Given the description of an element on the screen output the (x, y) to click on. 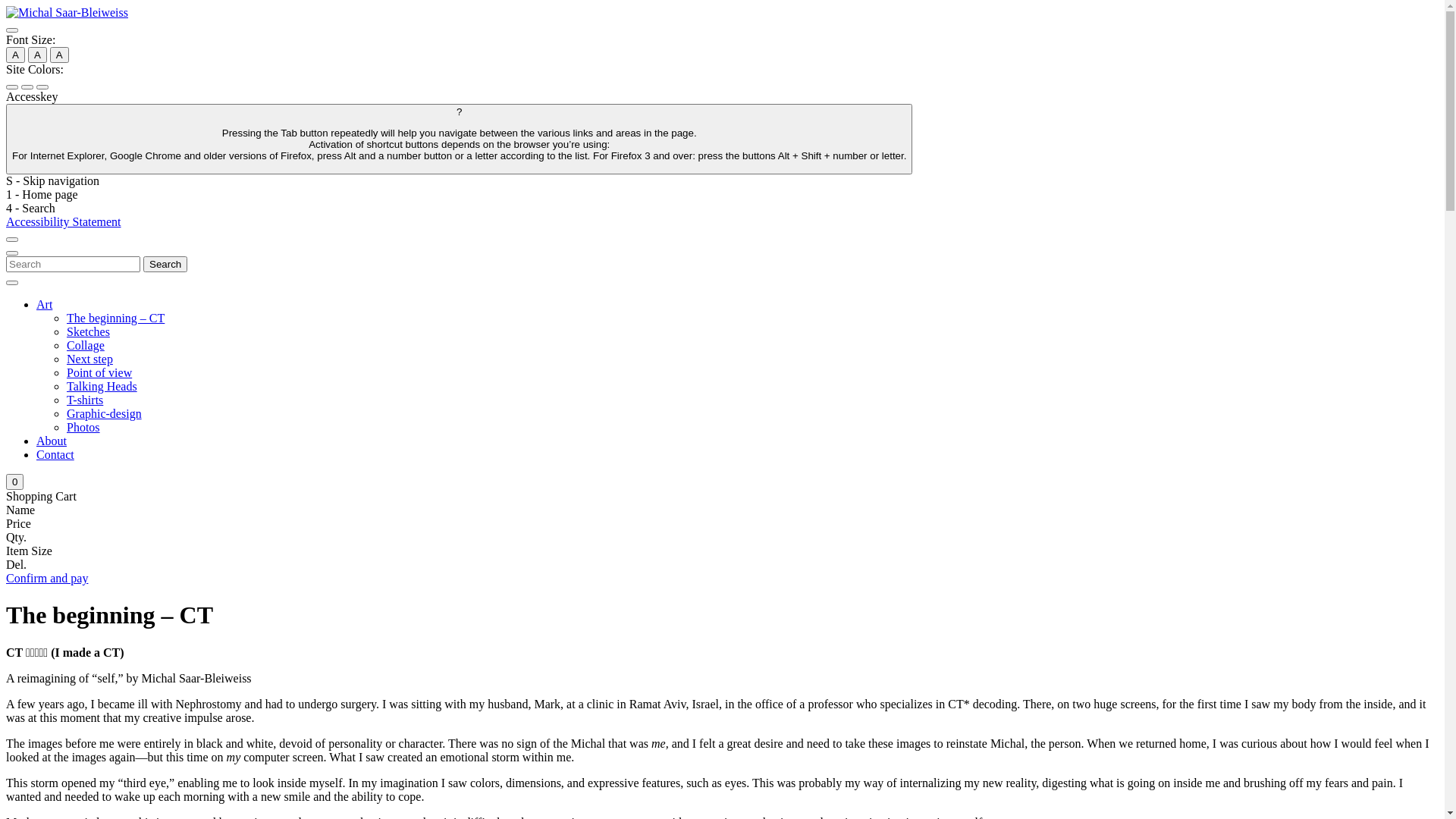
Search Element type: text (165, 264)
About Element type: text (51, 440)
Art Element type: text (44, 304)
Normal Colors Element type: hover (12, 86)
A Element type: text (59, 54)
Point of view Element type: text (98, 372)
A Element type: text (37, 54)
Accessibility Statement Element type: text (63, 221)
Sketches Element type: text (87, 331)
Search Element type: hover (73, 264)
Accessibility Element type: hover (12, 30)
Collage Element type: text (85, 344)
0 Element type: text (14, 481)
Photos Element type: text (83, 426)
T-shirts Element type: text (84, 399)
Black and White - Suited for the Color Blind Element type: hover (27, 86)
Accessibility Element type: text (12, 30)
Confirm and pay Element type: text (46, 577)
Graphic-design Element type: text (103, 413)
Close Element type: hover (12, 282)
Maximum Contrast - Suited for the Sight Impaired Element type: hover (42, 86)
Contact Element type: text (55, 454)
A Element type: text (15, 54)
Next step Element type: text (89, 358)
Talking Heads Element type: text (101, 385)
